Given the description of an element on the screen output the (x, y) to click on. 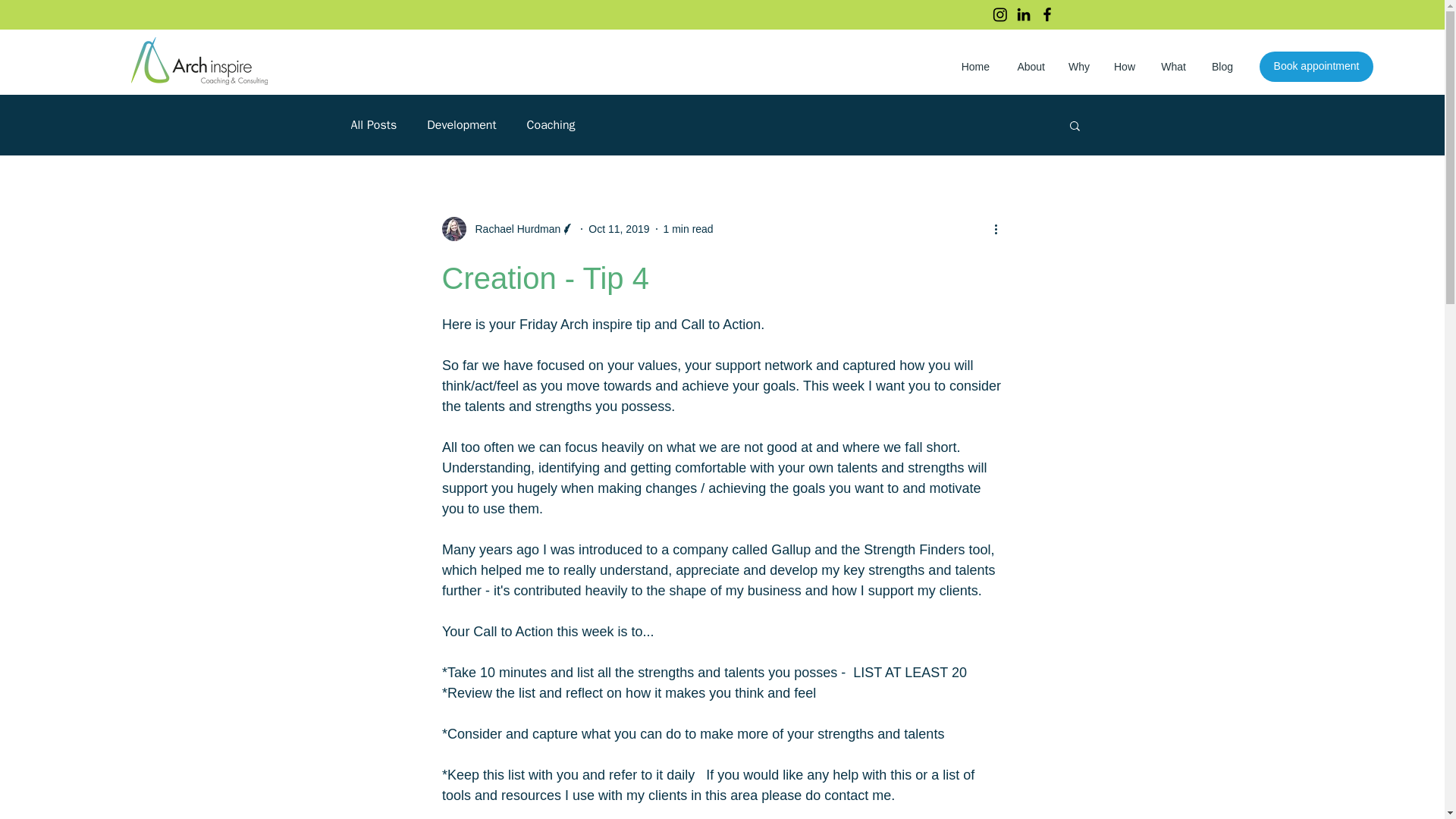
How (1123, 66)
Rachael Hurdman (508, 228)
All Posts (373, 124)
Blog (1220, 66)
Why (1078, 66)
Coaching (551, 124)
Home (972, 66)
Rachael Hurdman (512, 229)
Oct 11, 2019 (618, 228)
Book appointment (1316, 66)
1 min read (688, 228)
About (1029, 66)
Development (461, 124)
